Given the description of an element on the screen output the (x, y) to click on. 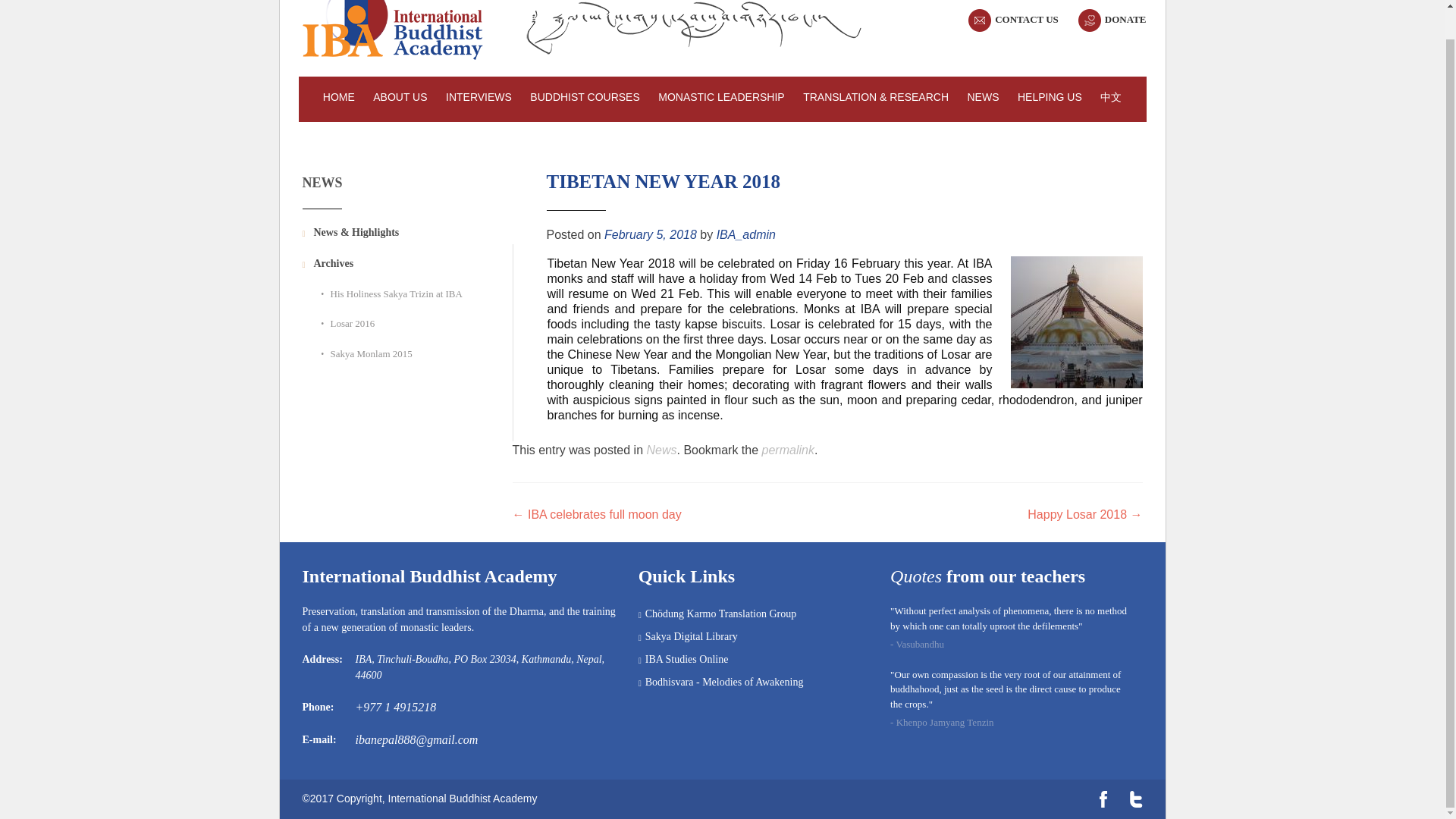
ABOUT US (399, 99)
BUDDHIST COURSES (584, 99)
INTERVIEWS (478, 99)
CONTACT US (1026, 19)
DONATE (1126, 19)
